Given the description of an element on the screen output the (x, y) to click on. 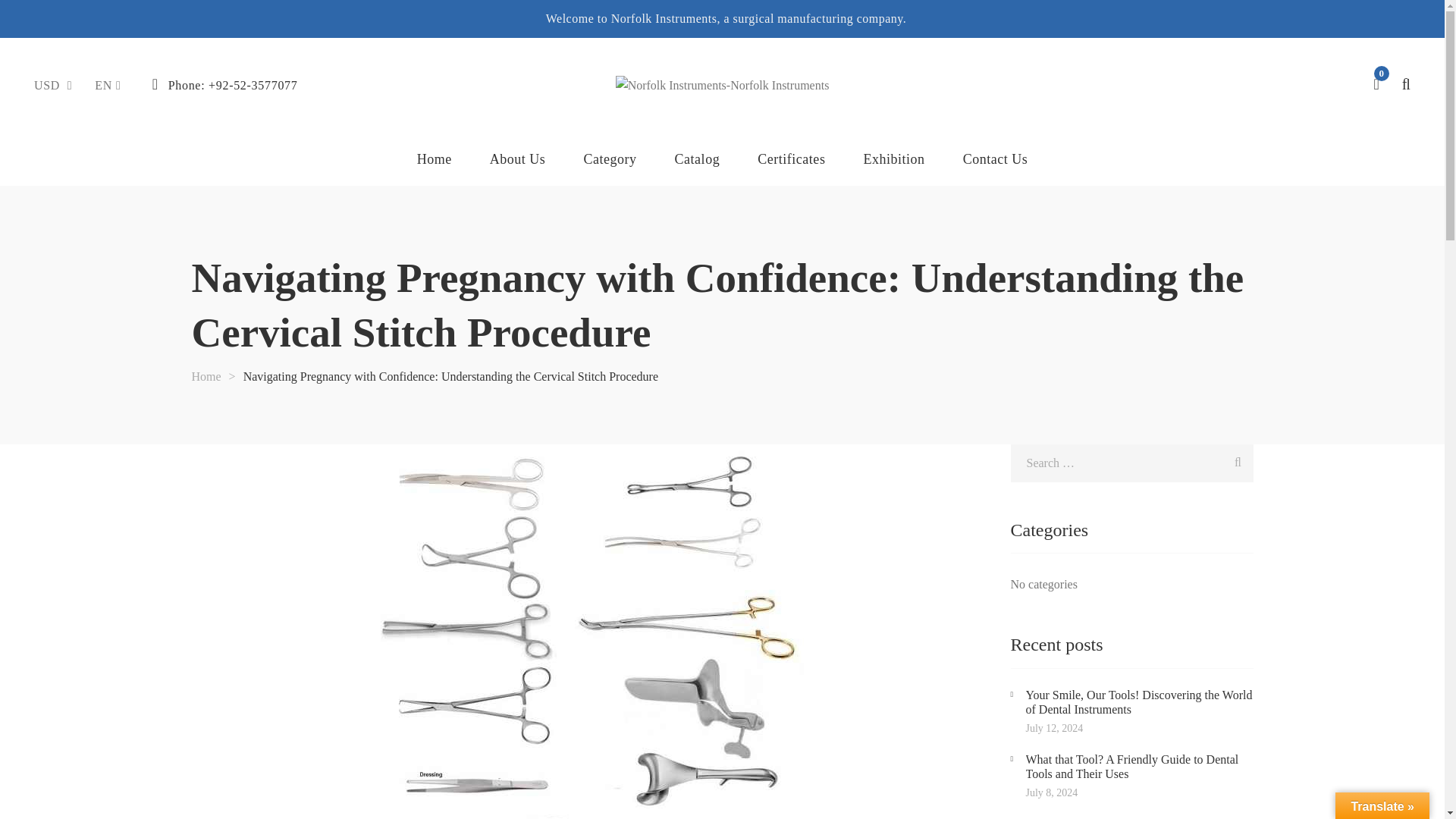
Norfolk Instruments-Norfolk Instruments (722, 85)
About Us (517, 159)
Category (609, 159)
Contact Us (994, 159)
Home (433, 159)
Catalog (697, 159)
Certificates (791, 159)
Home (205, 376)
Exhibition (893, 159)
